Given the description of an element on the screen output the (x, y) to click on. 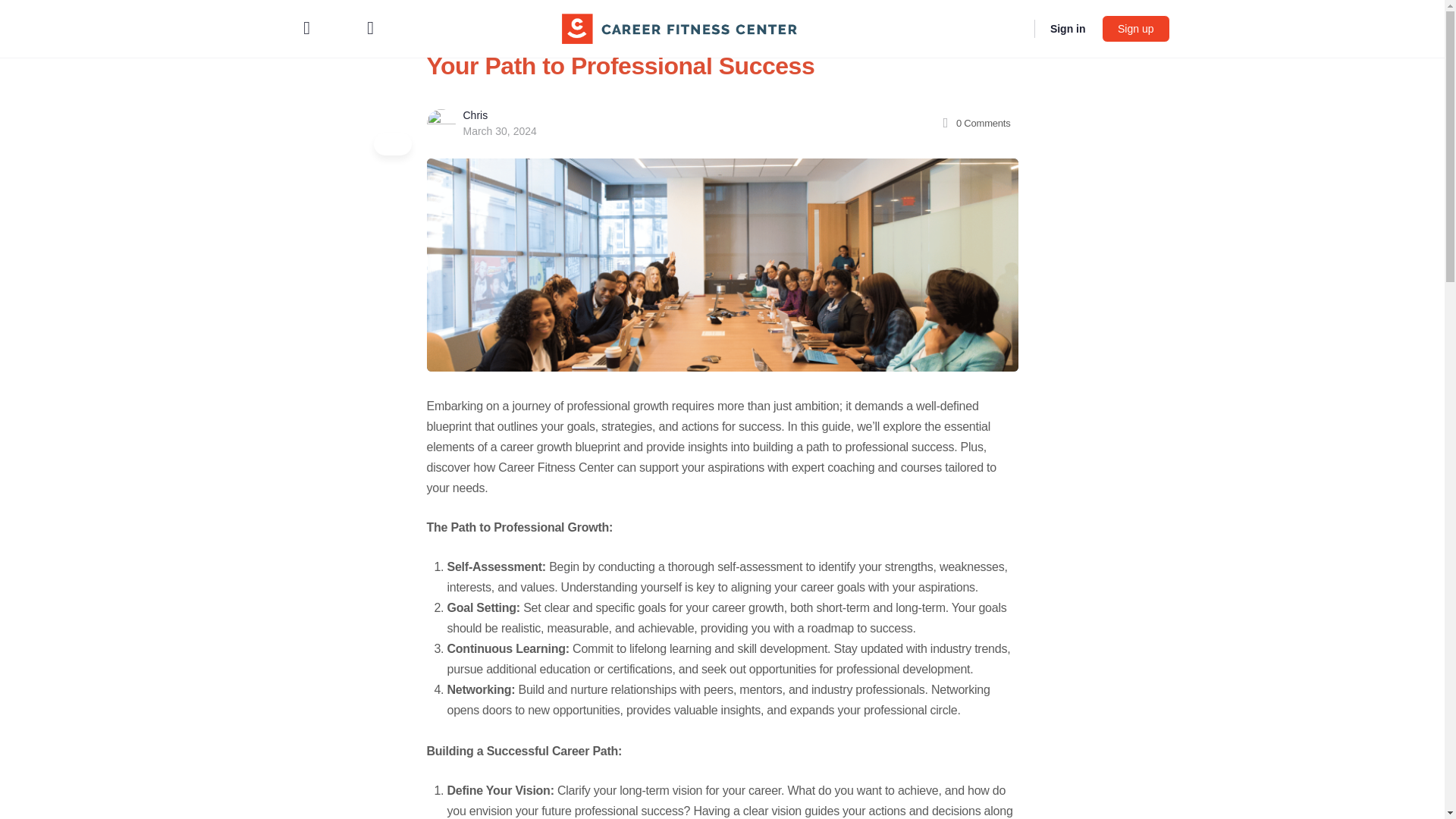
Chris (475, 114)
March 30, 2024 (499, 131)
0 Comments (974, 122)
Sign up (1135, 28)
Sign in (1067, 28)
